Given the description of an element on the screen output the (x, y) to click on. 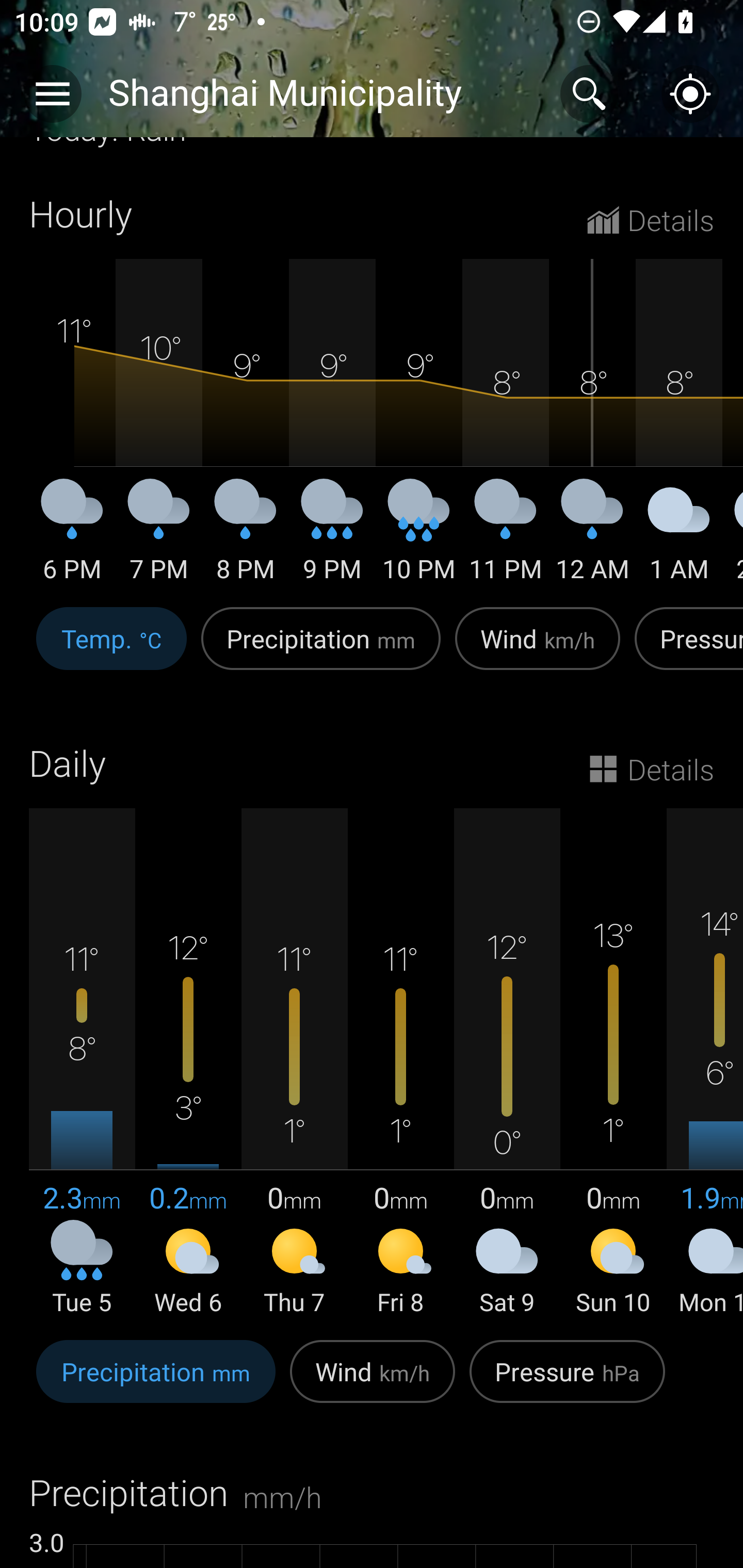
6 PM (71, 537)
7 PM (158, 537)
8 PM (245, 537)
9 PM (332, 537)
10 PM (418, 537)
11 PM (505, 537)
12 AM (592, 537)
1 AM (679, 537)
Temp. °C (110, 649)
Precipitation mm (320, 649)
Wind km/h (537, 649)
Pressure (685, 649)
11° 8° 2.3 mm Tue 5 (81, 1062)
12° 3° 0.2 mm Wed 6 (188, 1062)
11° 1° 0 mm Thu 7 (294, 1062)
11° 1° 0 mm Fri 8 (400, 1062)
12° 0° 0 mm Sat 9 (506, 1062)
13° 1° 0 mm Sun 10 (613, 1062)
14° 6° 1.9 mm Mon 11 (704, 1062)
Precipitation mm (155, 1381)
Wind km/h (372, 1381)
Pressure hPa (567, 1381)
